Given the description of an element on the screen output the (x, y) to click on. 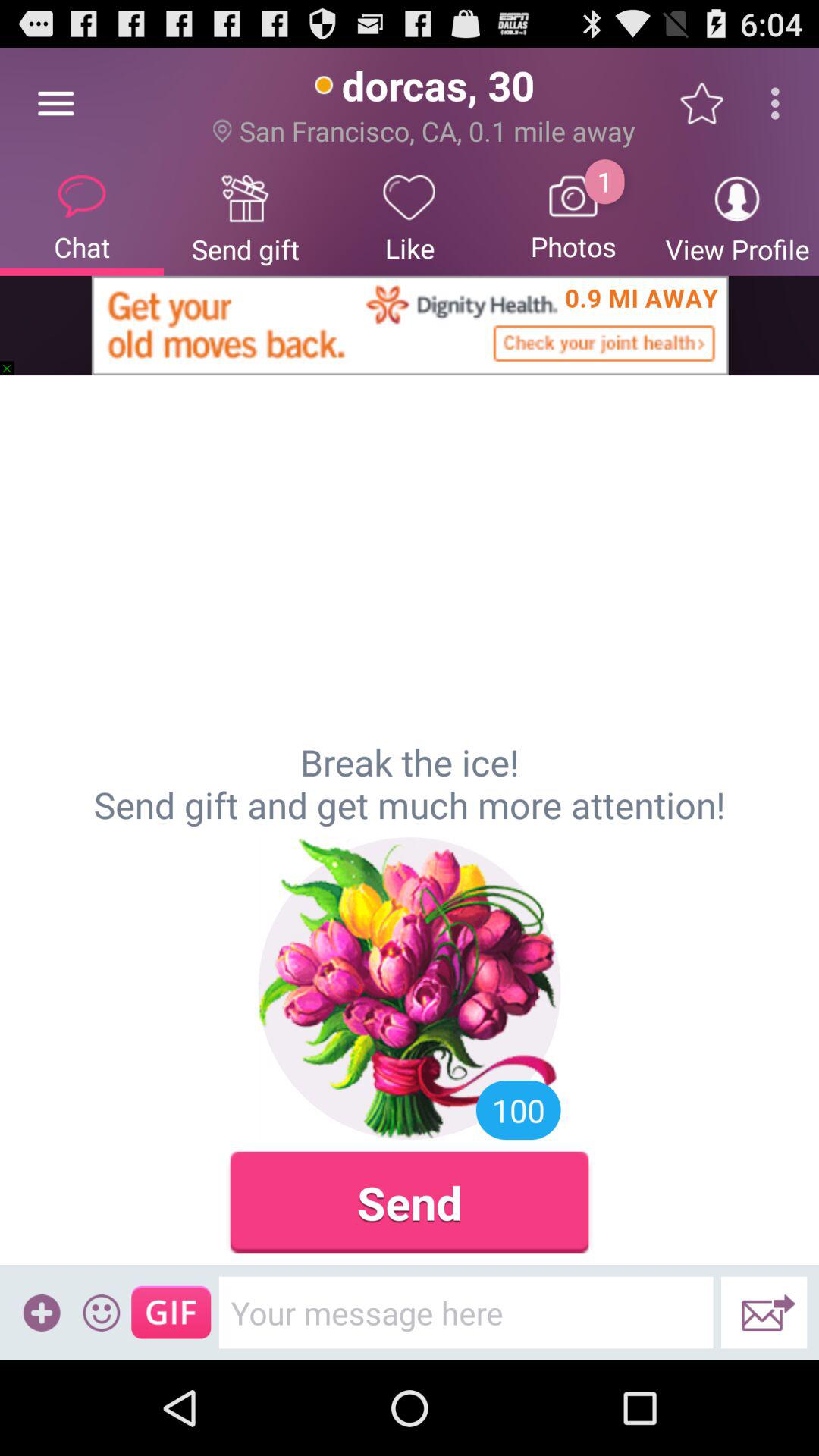
flip to chat item (81, 217)
